Given the description of an element on the screen output the (x, y) to click on. 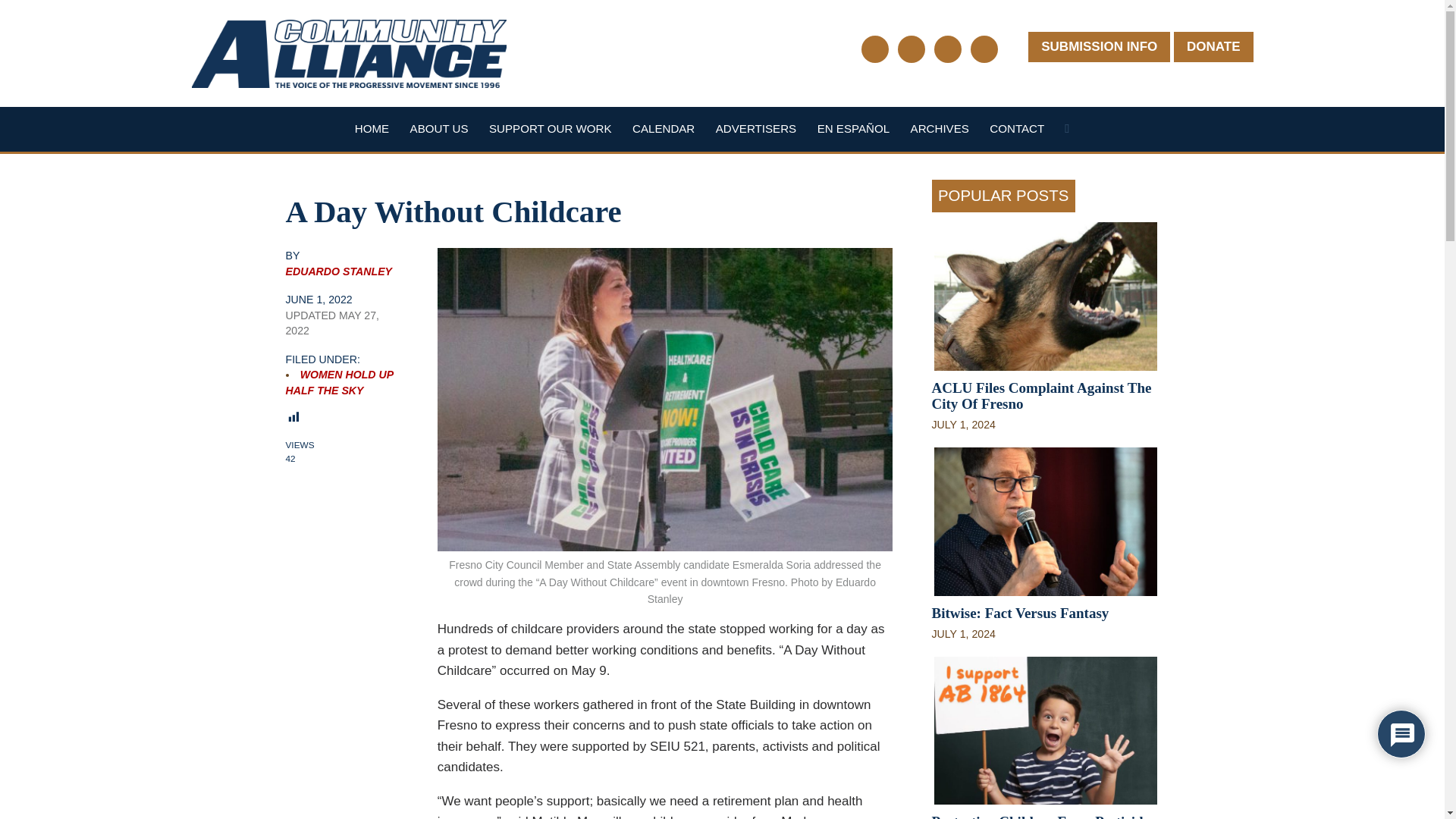
SUBMISSION INFO (1098, 47)
SUPPORT OUR WORK (550, 128)
WOMEN HOLD UP HALF THE SKY (339, 382)
Search (1066, 132)
EDUARDO STANLEY (338, 271)
Search (1066, 132)
CONTACT (1016, 128)
CALENDAR (662, 128)
ARCHIVES (940, 128)
ADVERTISERS (756, 128)
DONATE (1213, 47)
Eduardo Stanley (338, 271)
Search (1066, 132)
ABOUT US (439, 128)
